Given the description of an element on the screen output the (x, y) to click on. 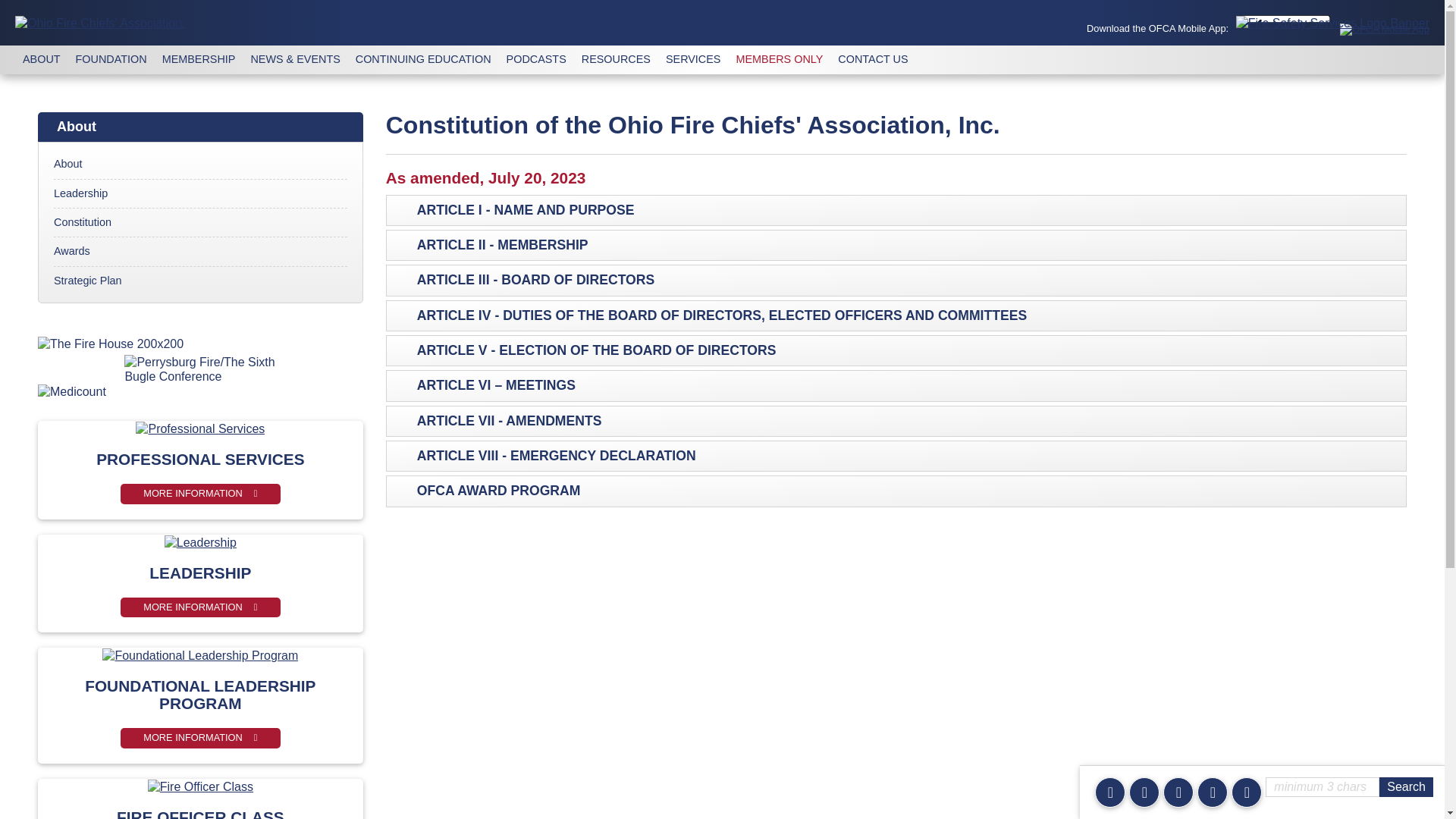
Fire Safety Services Logo Banner (1332, 22)
MEMBERSHIP (198, 59)
FOUNDATION (111, 59)
Search (1405, 786)
Search (1405, 786)
ABOUT (41, 59)
The Fire House 200x200 (199, 343)
Search (1405, 786)
Medicount (199, 391)
